Given the description of an element on the screen output the (x, y) to click on. 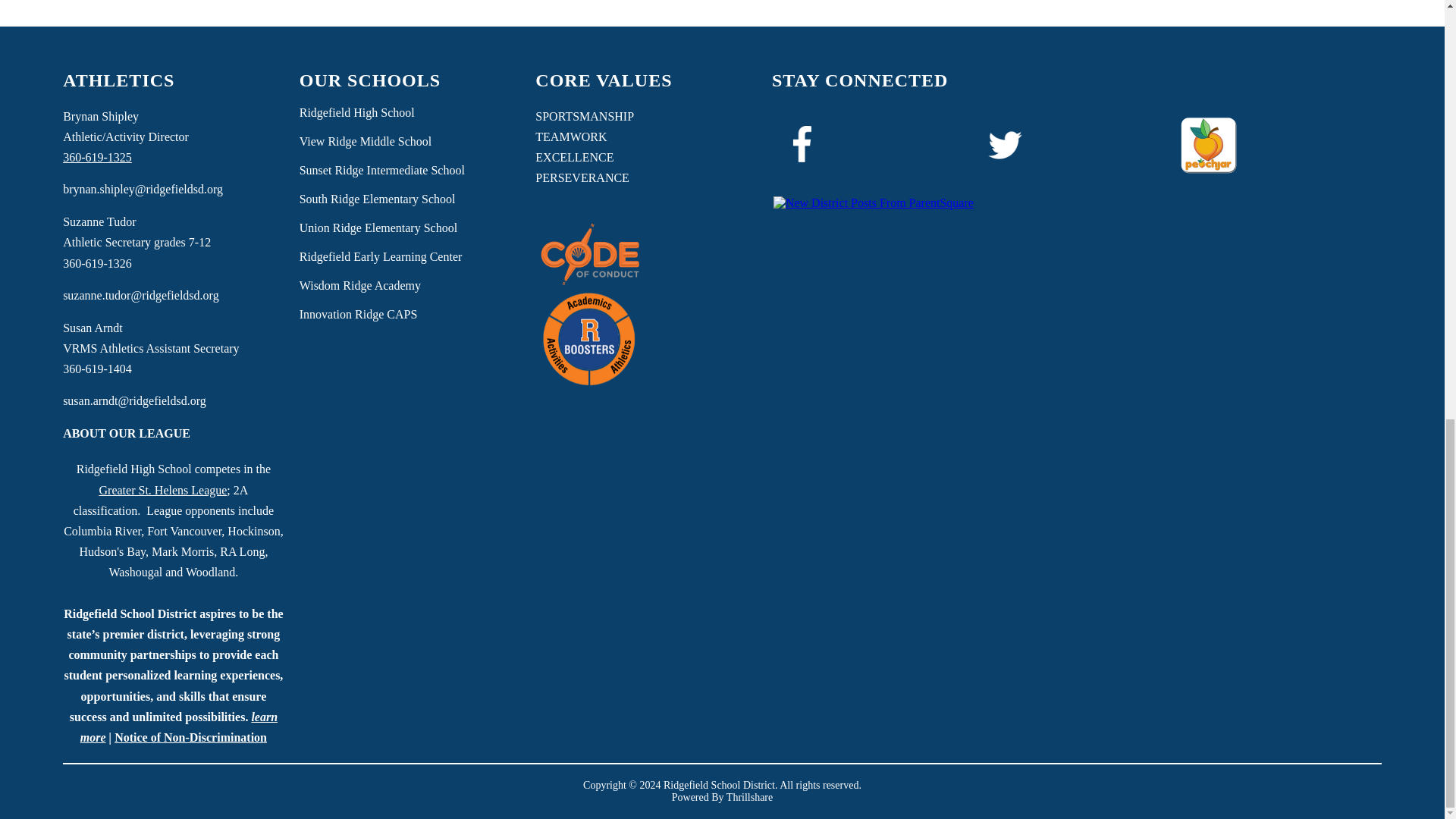
View Ridge Middle School (365, 141)
Greater St. Helens League (163, 490)
Sunset Ridge Intermediate School (381, 170)
Innovation Ridge CAPS (358, 314)
Ridgefield High School (356, 112)
Wisdom Ridge Academy (359, 285)
learn more (179, 726)
South Ridge Elementary School (377, 199)
360-619-1325 (97, 156)
Ridgefield Early Learning Center (381, 256)
Union Ridge Elementary School (378, 228)
Notice of Non-Discrimination (190, 737)
